Given the description of an element on the screen output the (x, y) to click on. 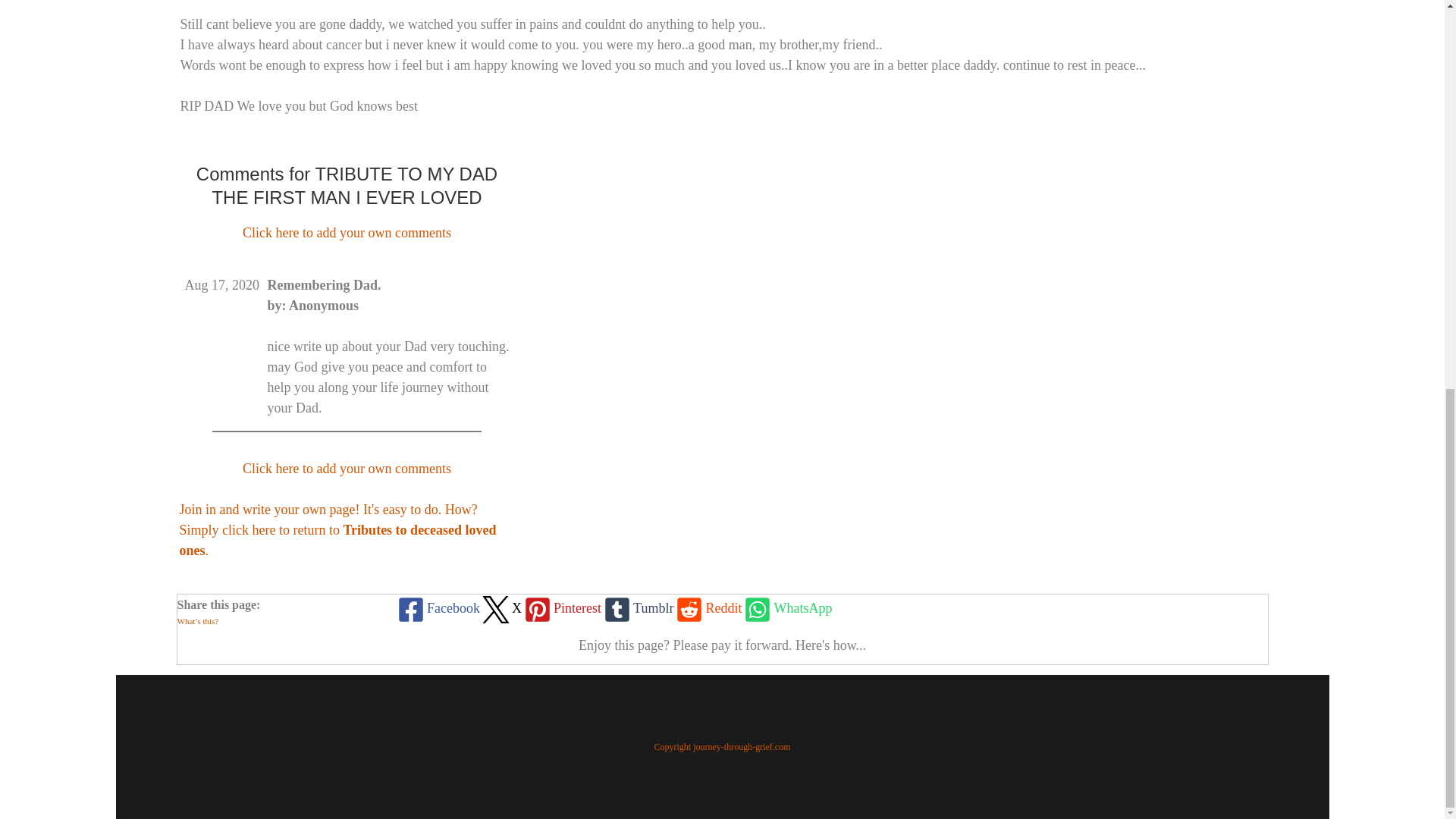
Pinterest (561, 608)
Click here to add your own comments (347, 468)
Facebook (437, 608)
X (500, 608)
Tumblr (636, 608)
Click here to add your own comments (347, 232)
